Given the description of an element on the screen output the (x, y) to click on. 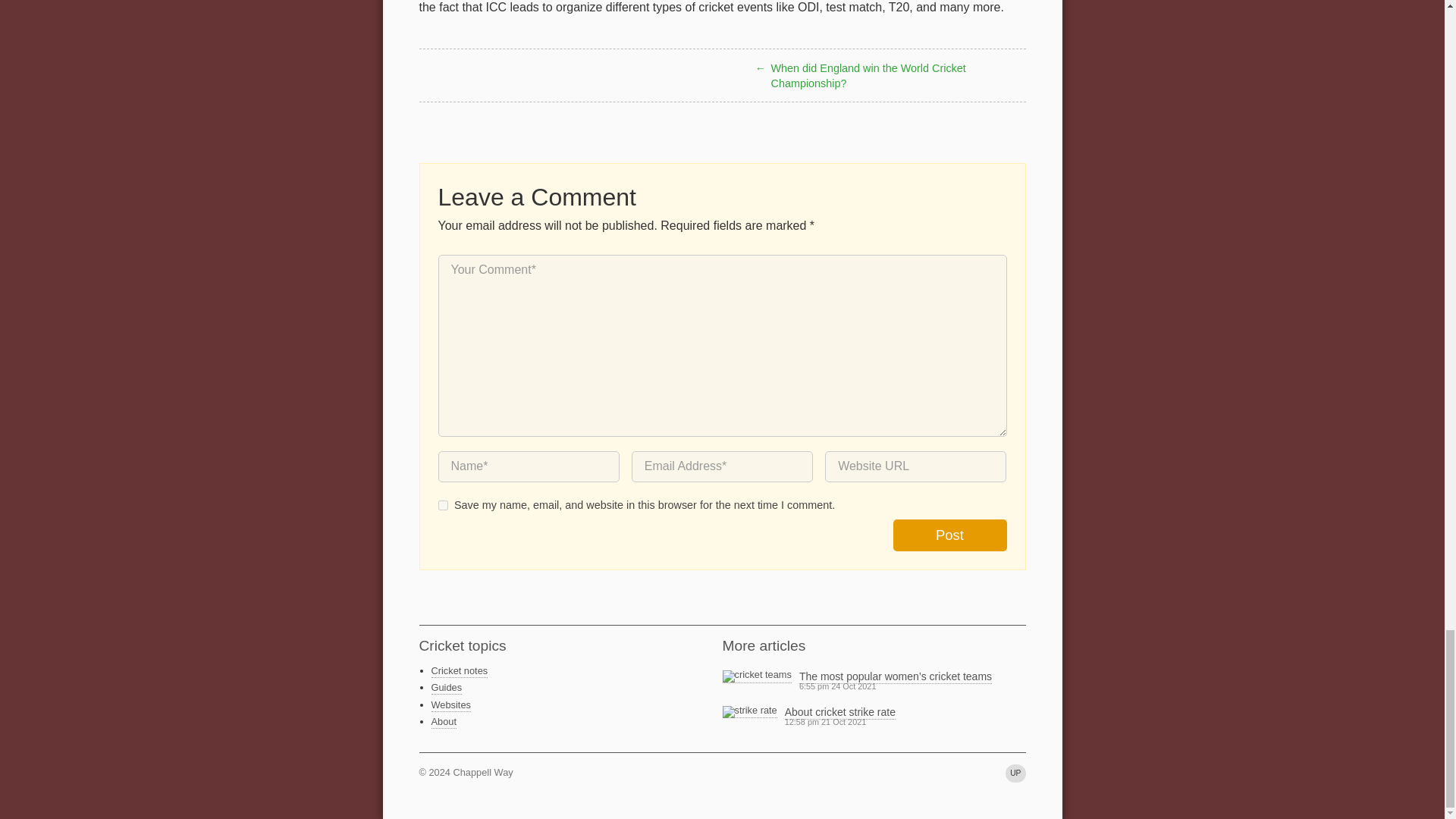
About (442, 721)
Websites (450, 705)
Cricket notes (458, 671)
Guides (445, 687)
yes (443, 505)
